Given the description of an element on the screen output the (x, y) to click on. 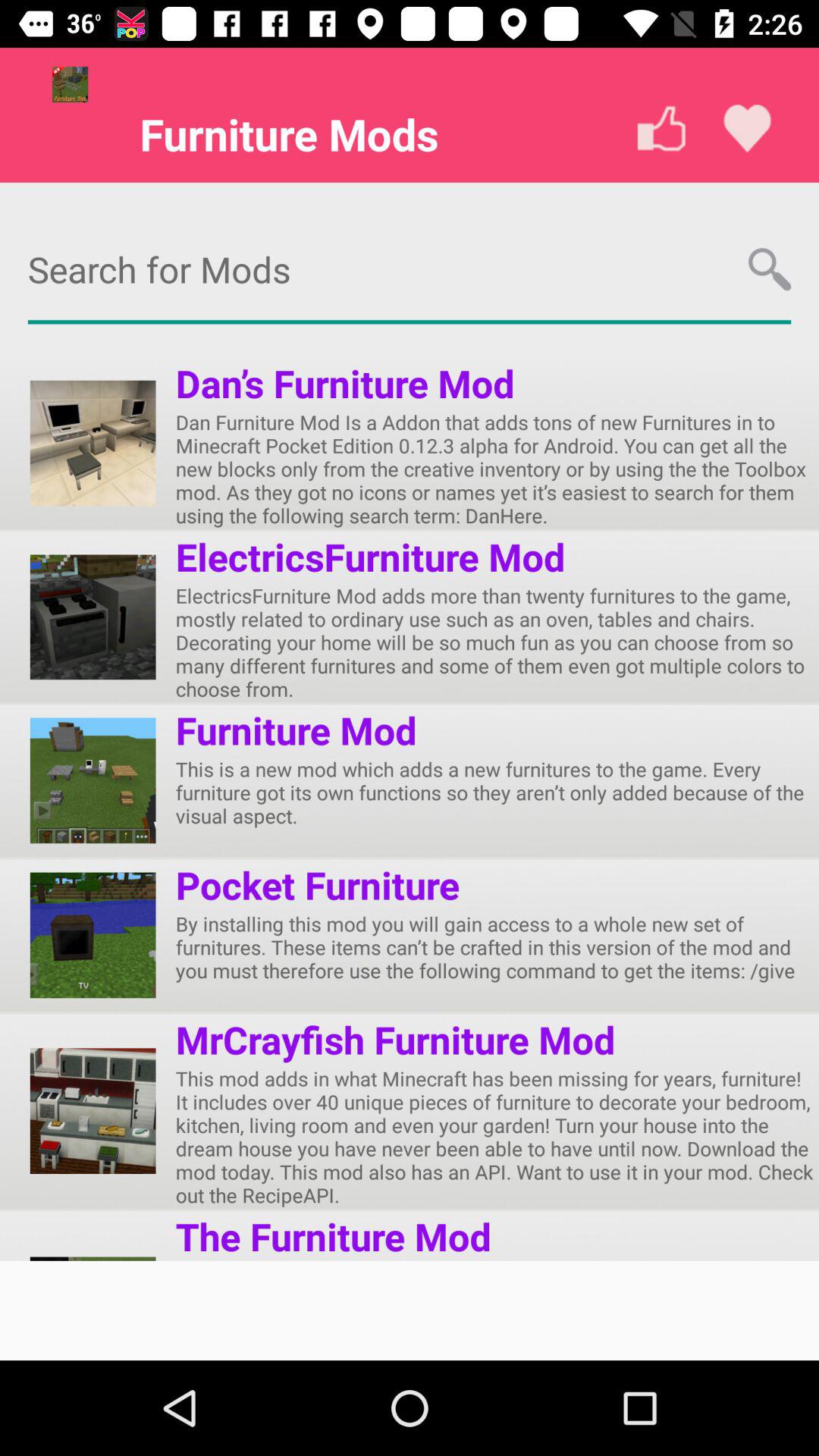
turn on by installing this icon (497, 946)
